Given the description of an element on the screen output the (x, y) to click on. 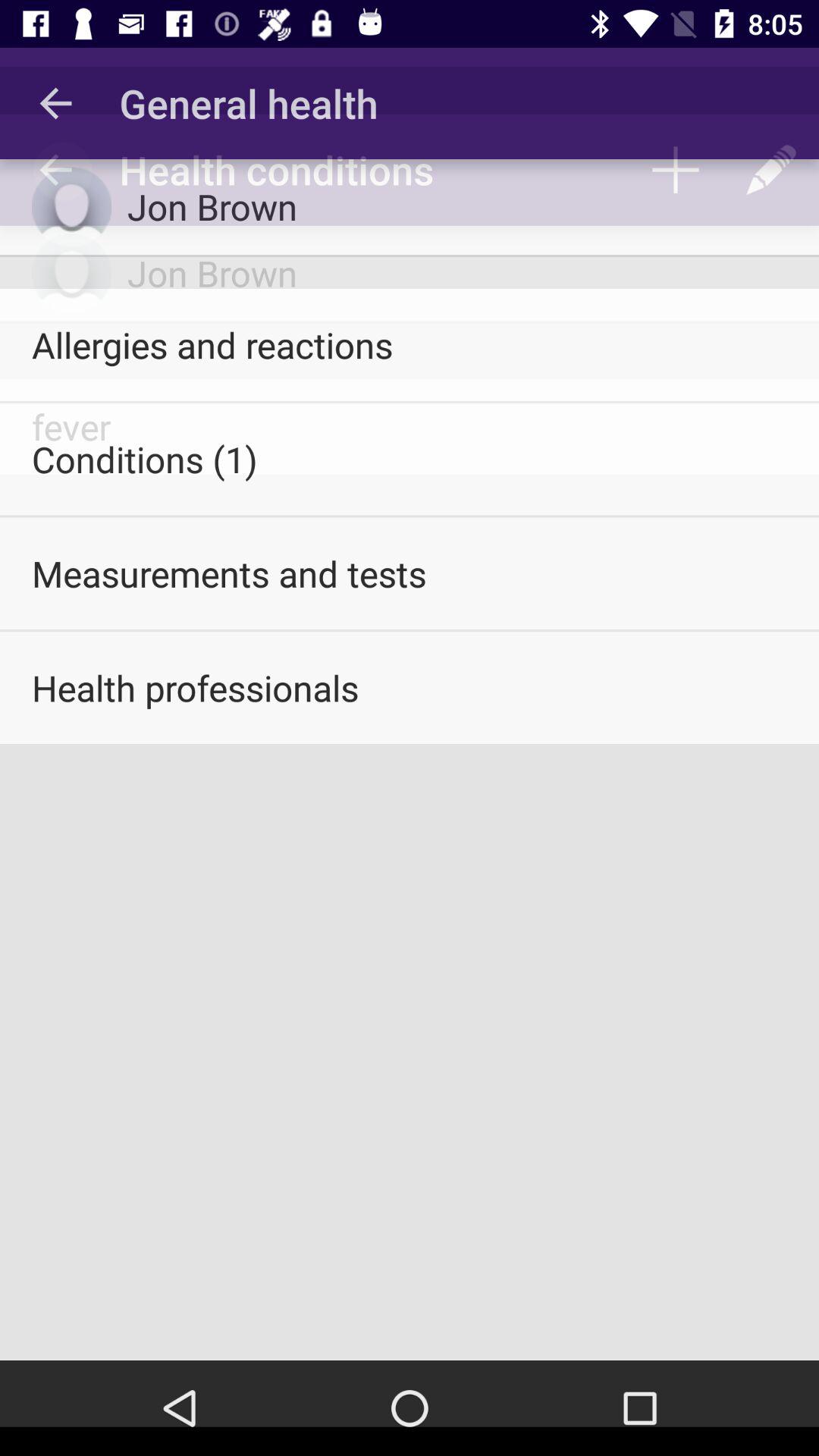
turn on the measurements and tests (409, 573)
